Given the description of an element on the screen output the (x, y) to click on. 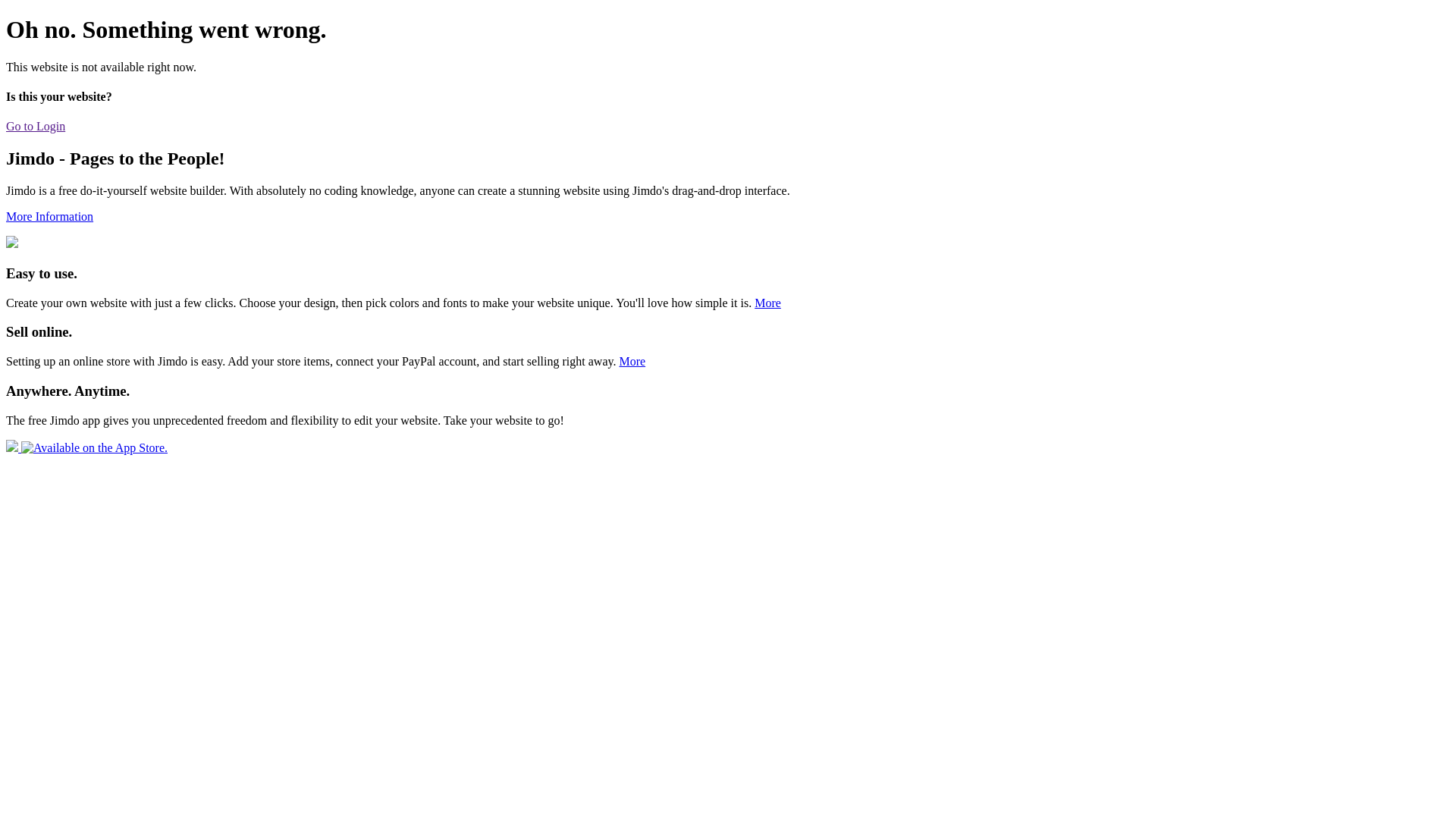
More Element type: text (631, 360)
More Element type: text (767, 302)
More Information Element type: text (49, 216)
Go to Login Element type: text (35, 125)
Available on the App Store. Element type: hover (86, 447)
